Given the description of an element on the screen output the (x, y) to click on. 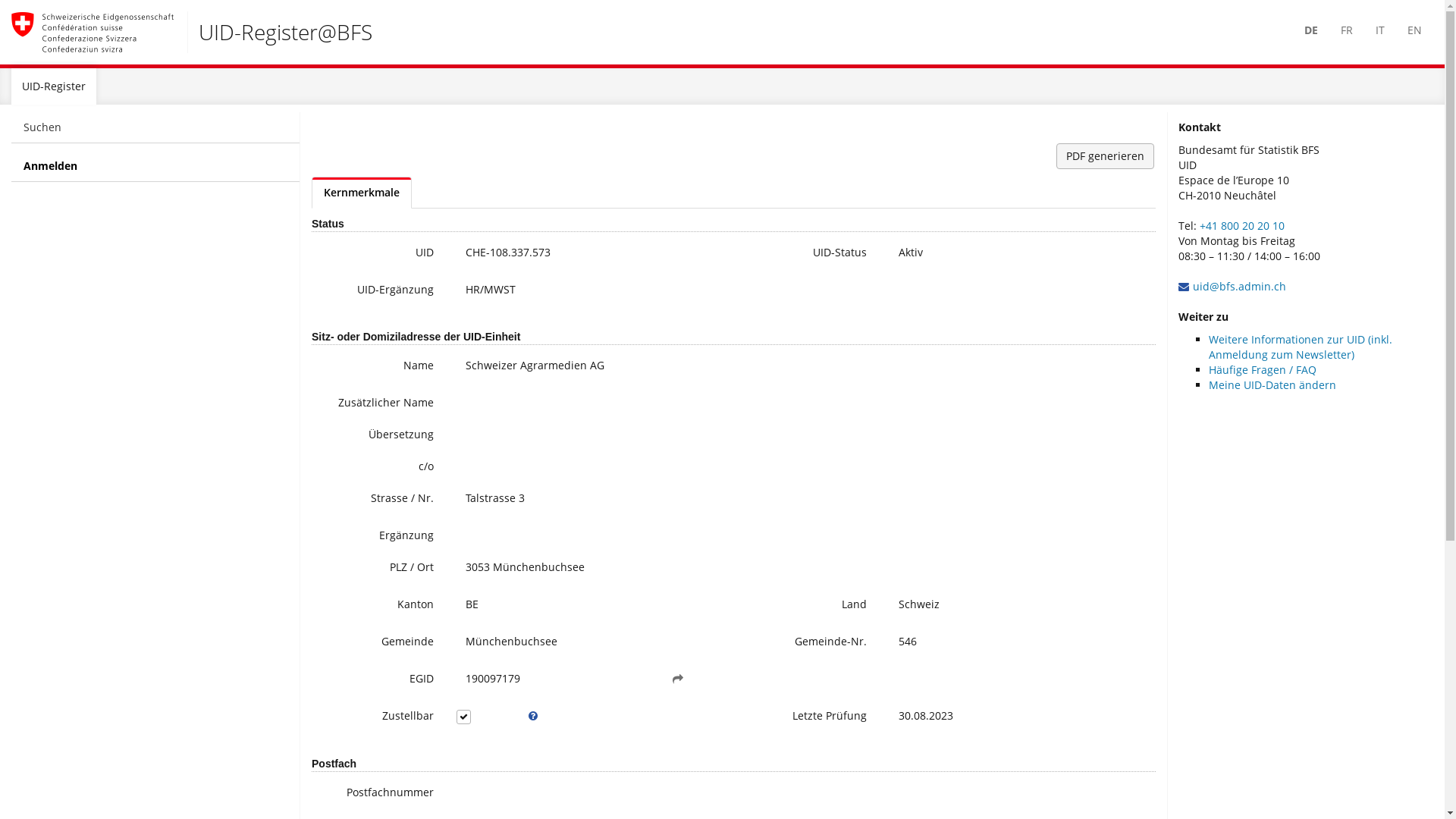
FR Element type: text (1346, 30)
PDF generieren Element type: text (1105, 156)
IT Element type: text (1380, 30)
Anmelden Element type: text (155, 166)
uid@bfs.admin.ch Element type: text (1239, 286)
Suchen Element type: text (155, 127)
DE Element type: text (1310, 30)
UID-Register@BFS Element type: text (191, 32)
+41 800 20 20 10 Element type: text (1241, 225)
UID-Register Element type: text (53, 86)
EN Element type: text (1414, 30)
Kernmerkmale Element type: text (361, 192)
on Element type: text (475, 713)
